Given the description of an element on the screen output the (x, y) to click on. 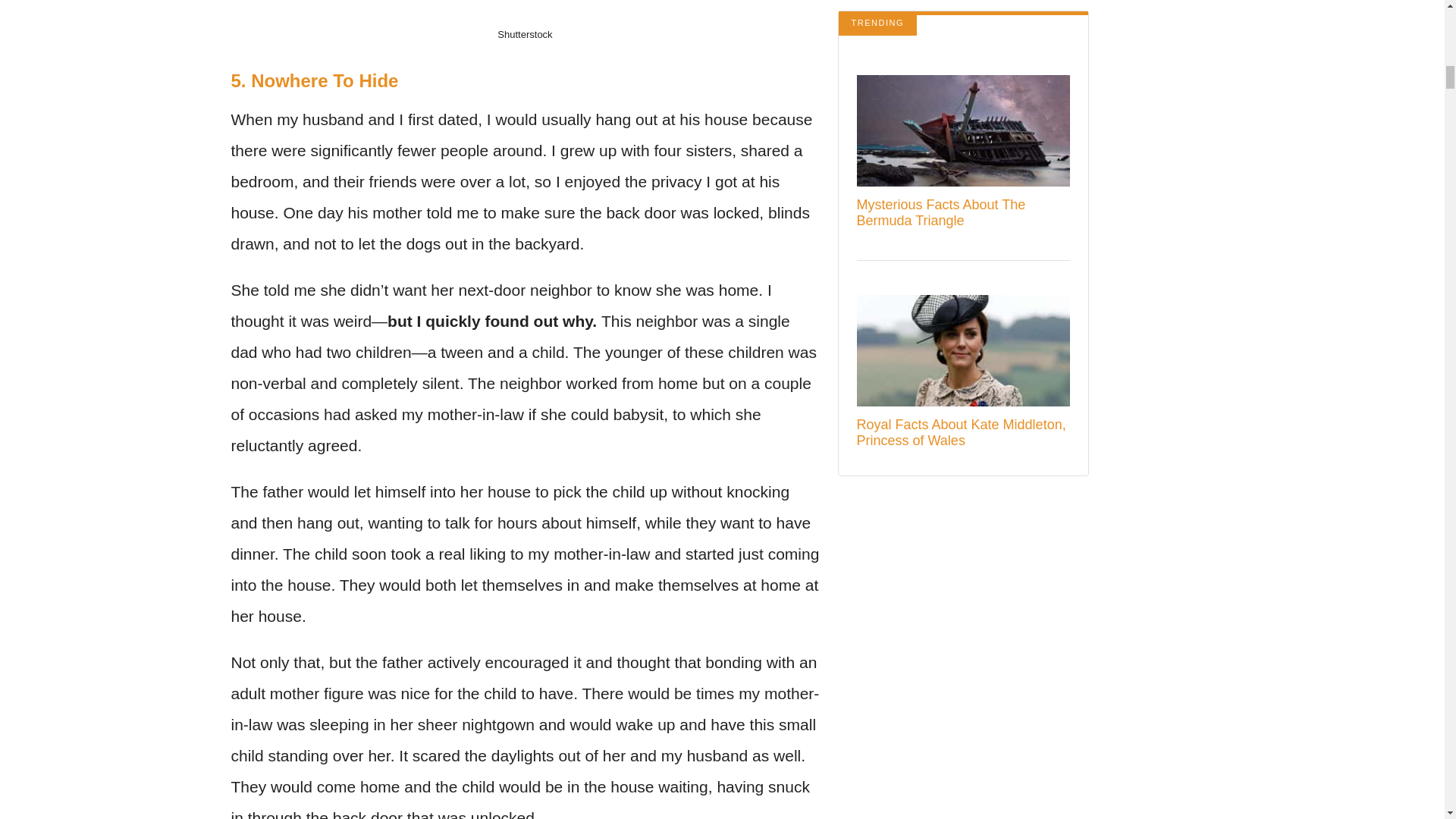
Shutterstock (524, 34)
